Given the description of an element on the screen output the (x, y) to click on. 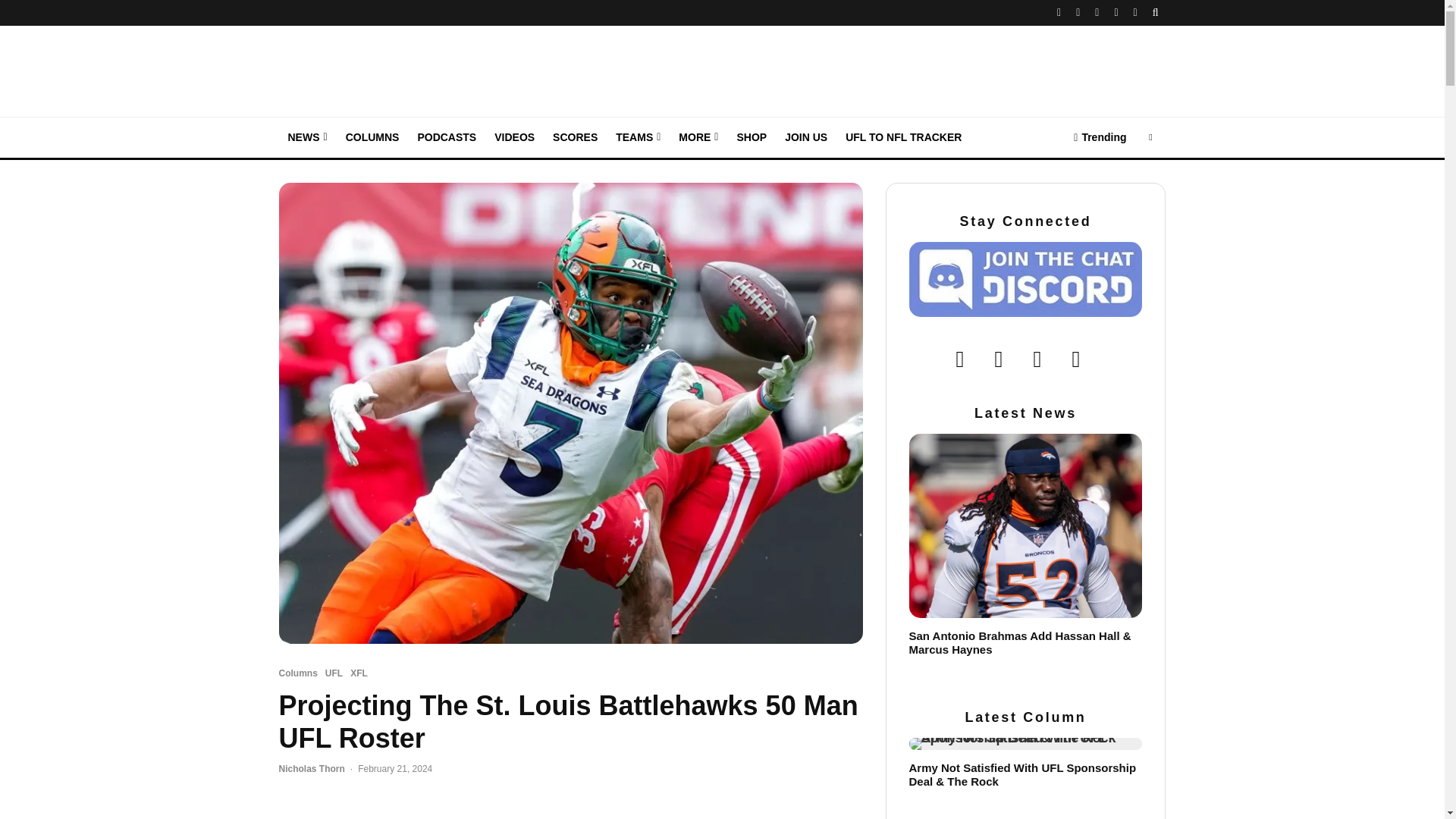
Posts by Nicholas Thorn (312, 768)
PODCASTS (445, 137)
Advertisement (890, 67)
COLUMNS (372, 137)
Advertisement (571, 808)
NEWS (307, 137)
